Given the description of an element on the screen output the (x, y) to click on. 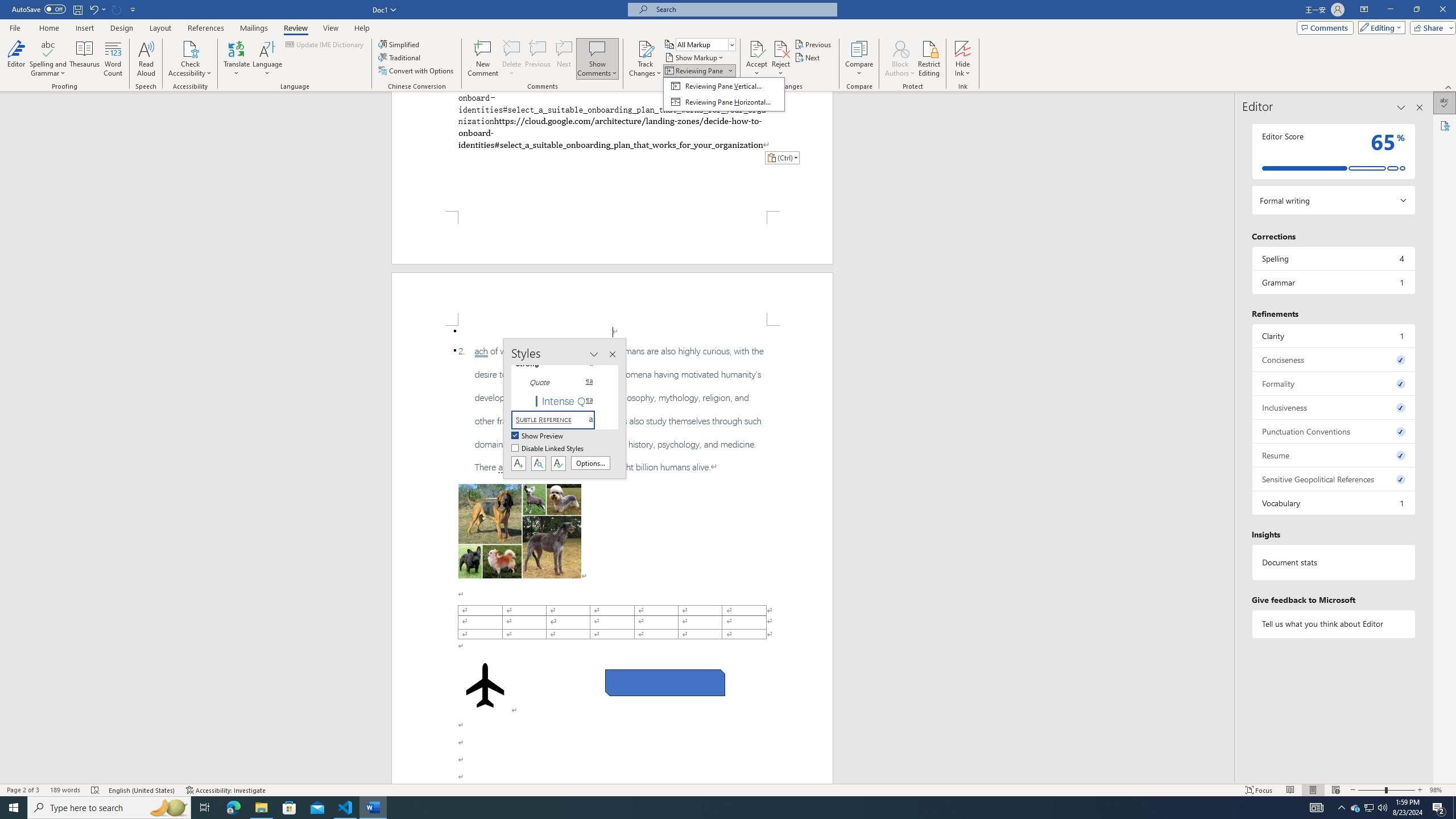
Editor Score 65% (1333, 151)
Track Changes (644, 48)
Disable Linked Styles (548, 448)
2. (611, 409)
Airplane with solid fill (485, 684)
Language (267, 58)
